Given the description of an element on the screen output the (x, y) to click on. 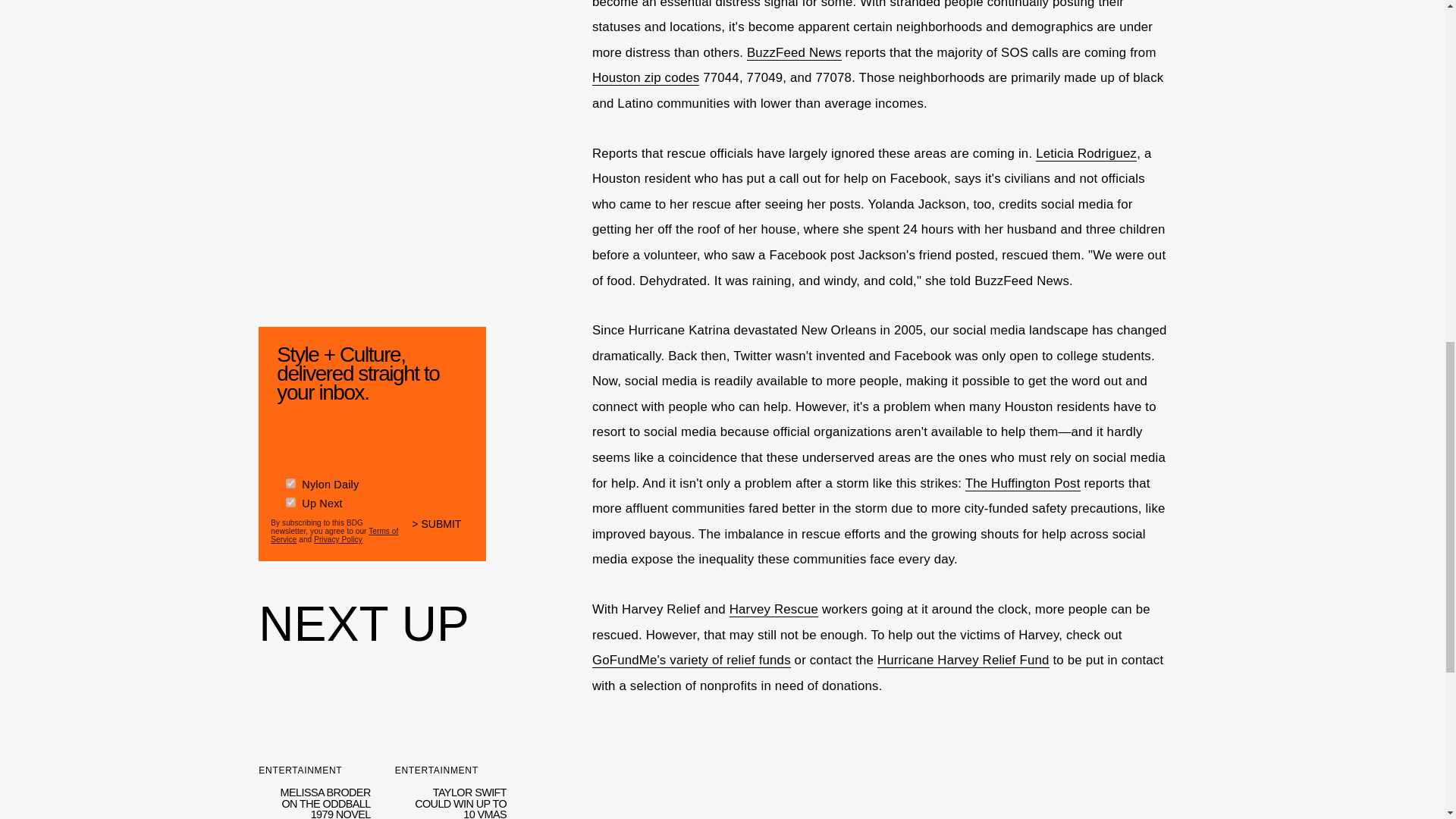
Hurricane Harvey Relief Fund (963, 660)
Houston zip codes (645, 77)
Privacy Policy (338, 539)
The Huffington Post (1022, 483)
GoFundMe's variety of relief funds (691, 660)
SUBMIT (443, 533)
BuzzFeed News (793, 52)
Terms of Service (333, 535)
Harvey Rescue (450, 744)
Leticia Rodriguez (773, 609)
